Given the description of an element on the screen output the (x, y) to click on. 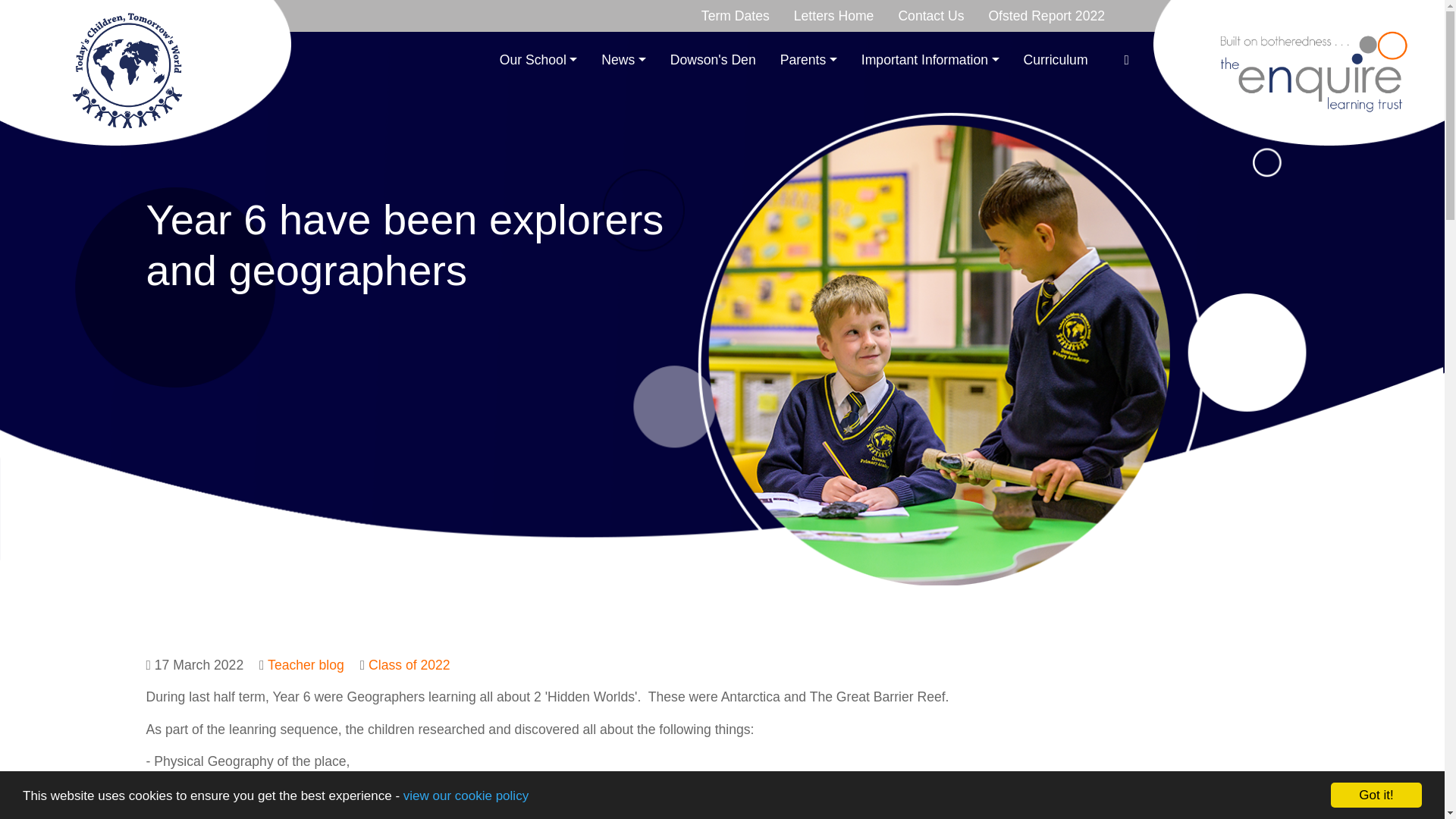
Our School (538, 60)
Letters Home (833, 15)
Parents (808, 60)
Term Dates (734, 15)
X (1126, 60)
Contact Us (930, 15)
Ofsted Report 2022 (1045, 15)
Dowson's Den (713, 60)
News (623, 60)
